Given the description of an element on the screen output the (x, y) to click on. 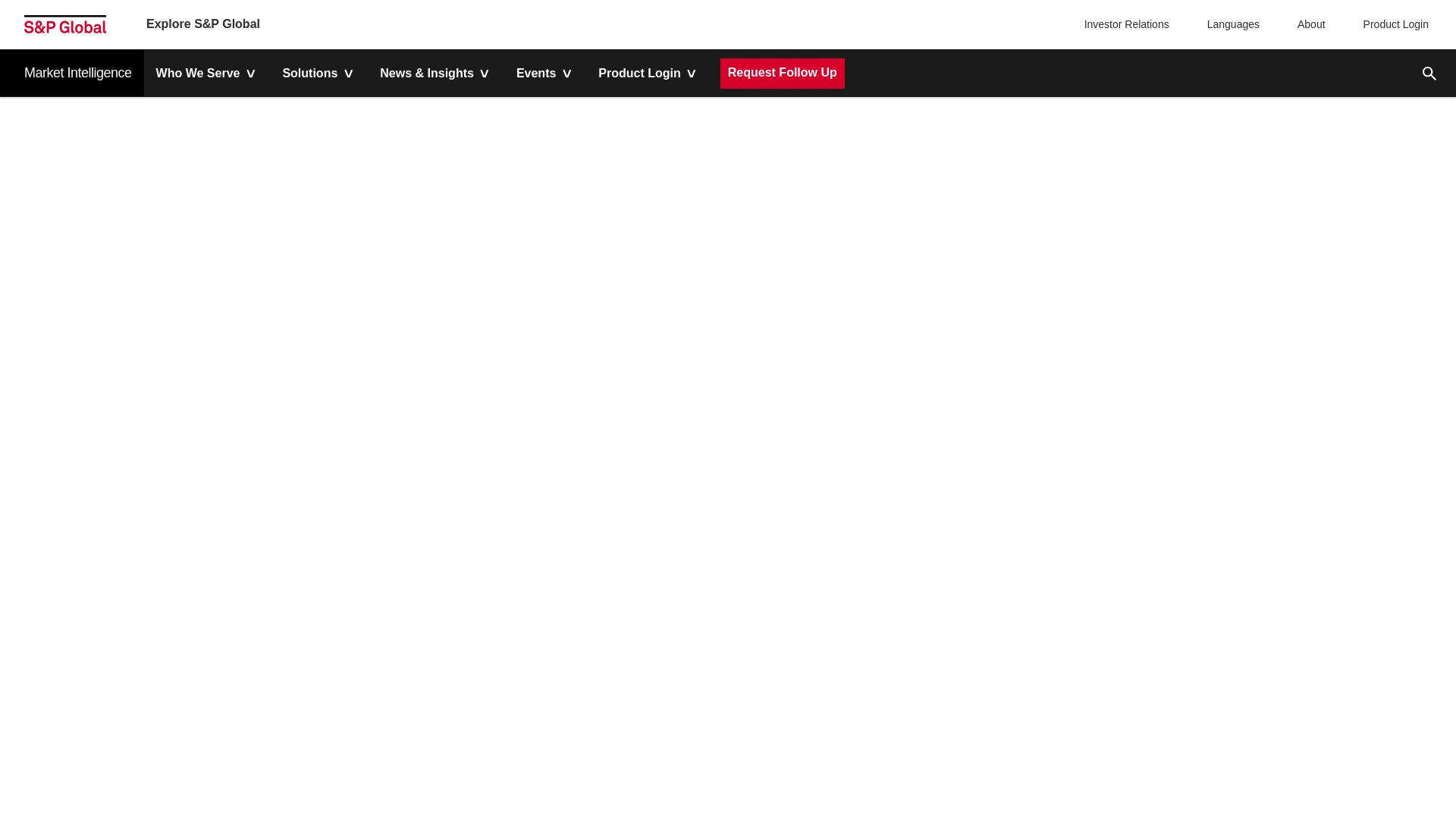
About (1307, 24)
Investor Relations (1129, 24)
Product Login (1392, 24)
Languages (1230, 24)
